Given the description of an element on the screen output the (x, y) to click on. 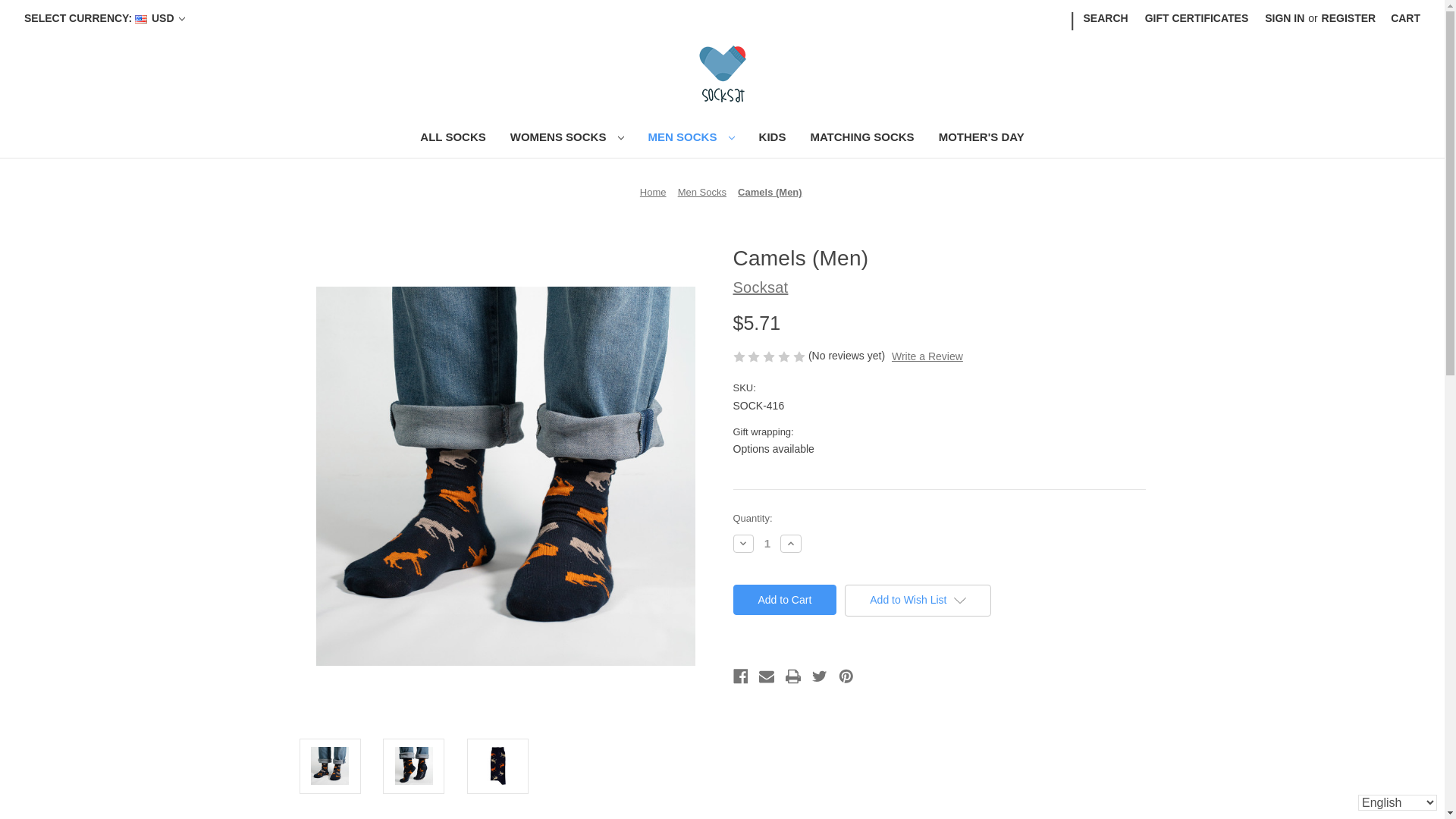
Add to Cart (783, 599)
GIFT CERTIFICATES (1197, 18)
SIGN IN (1284, 18)
ALL SOCKS (452, 139)
SEARCH (1106, 18)
Socksat (722, 74)
MEN SOCKS (691, 139)
MOTHER'S DAY (981, 139)
REGISTER (1348, 18)
MATCHING SOCKS (861, 139)
SELECT CURRENCY: USD (104, 18)
1 (767, 543)
WOMENS SOCKS (566, 139)
KIDS (771, 139)
